Given the description of an element on the screen output the (x, y) to click on. 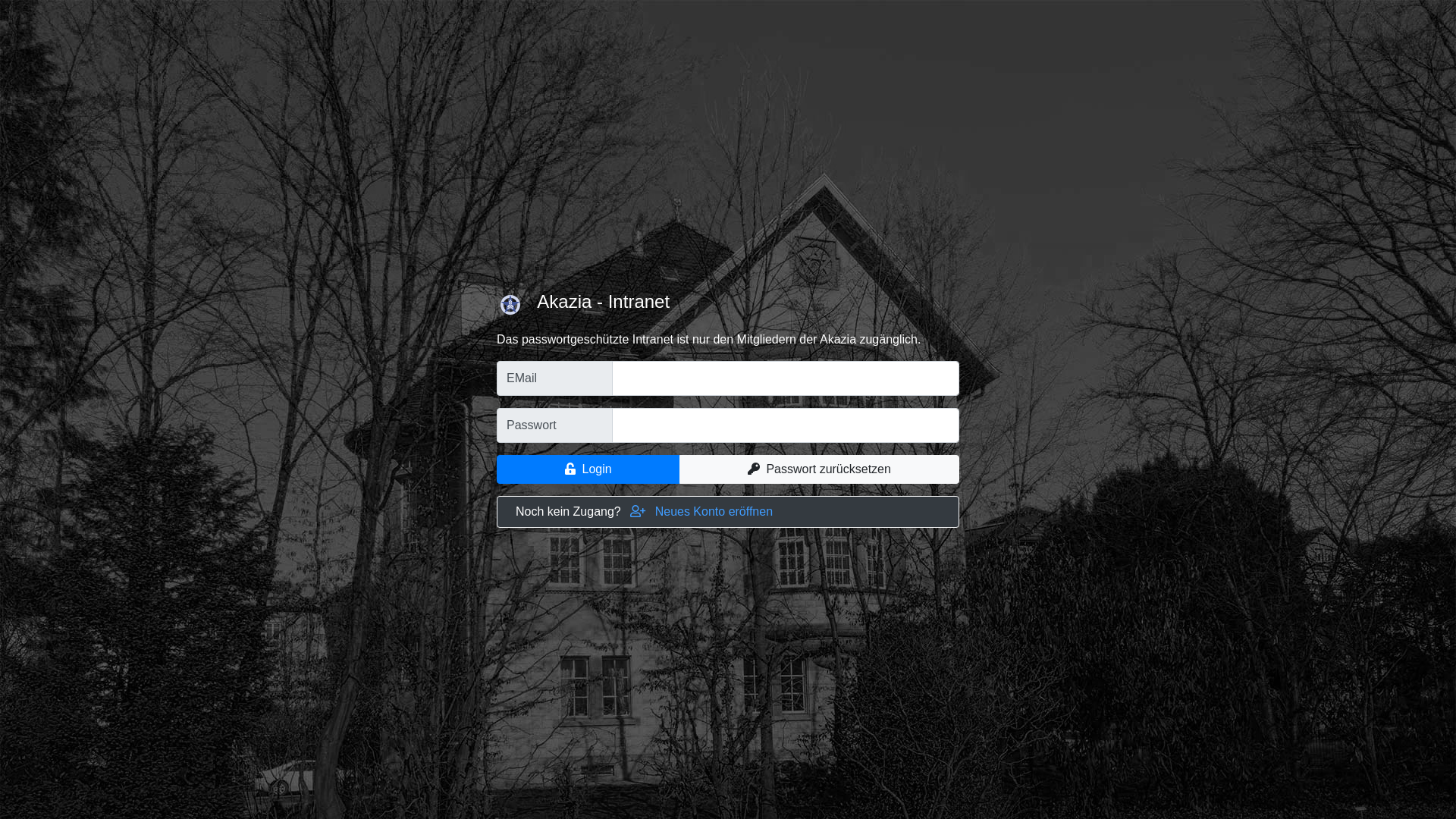
Login Element type: text (588, 469)
